Given the description of an element on the screen output the (x, y) to click on. 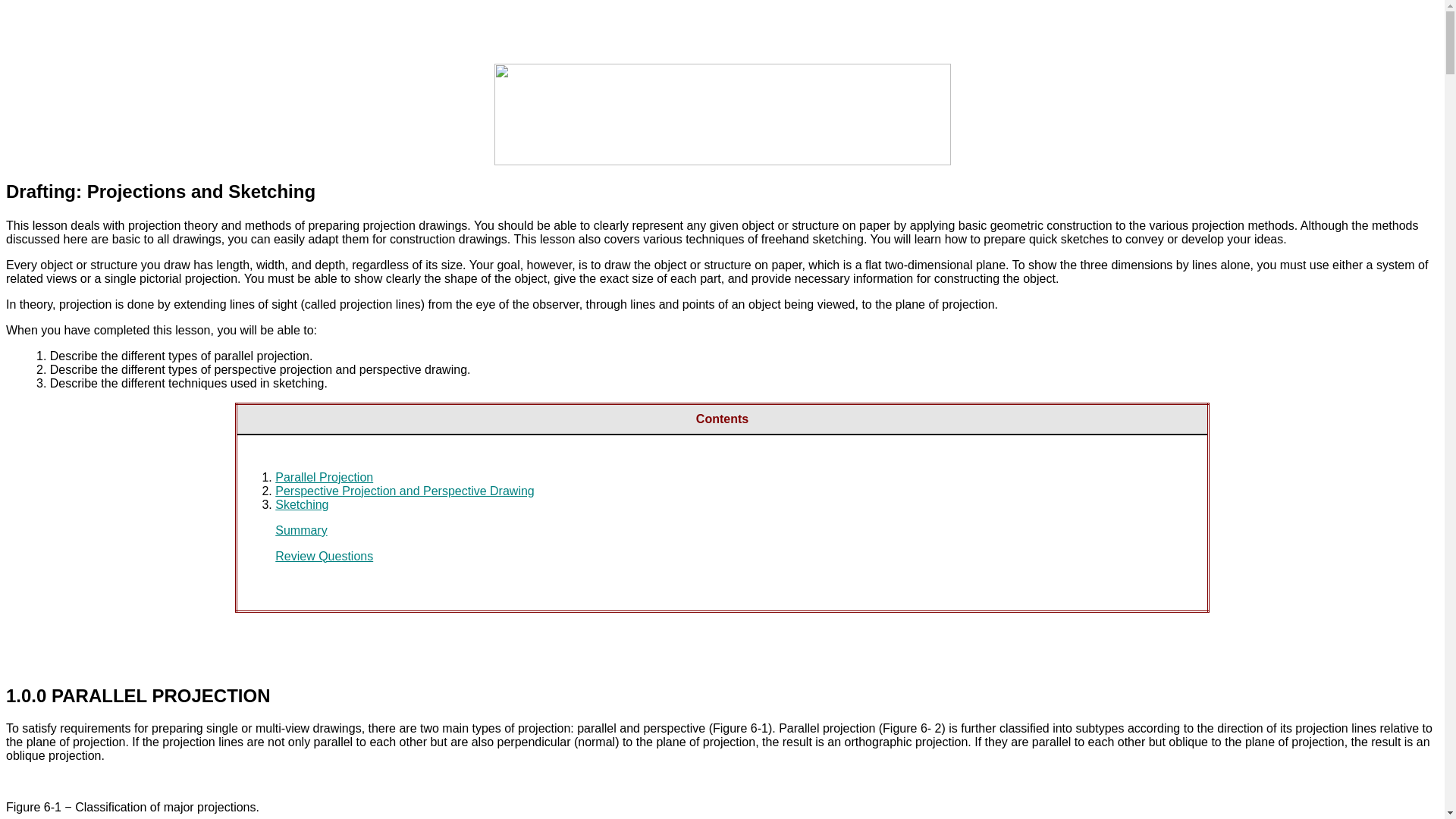
Parallel Projection (323, 477)
Perspective Projection and Perspective Drawing (404, 490)
1.0.0 (25, 695)
Contents (721, 418)
Summary (300, 530)
Sketching (302, 504)
Review Questions (323, 555)
